Given the description of an element on the screen output the (x, y) to click on. 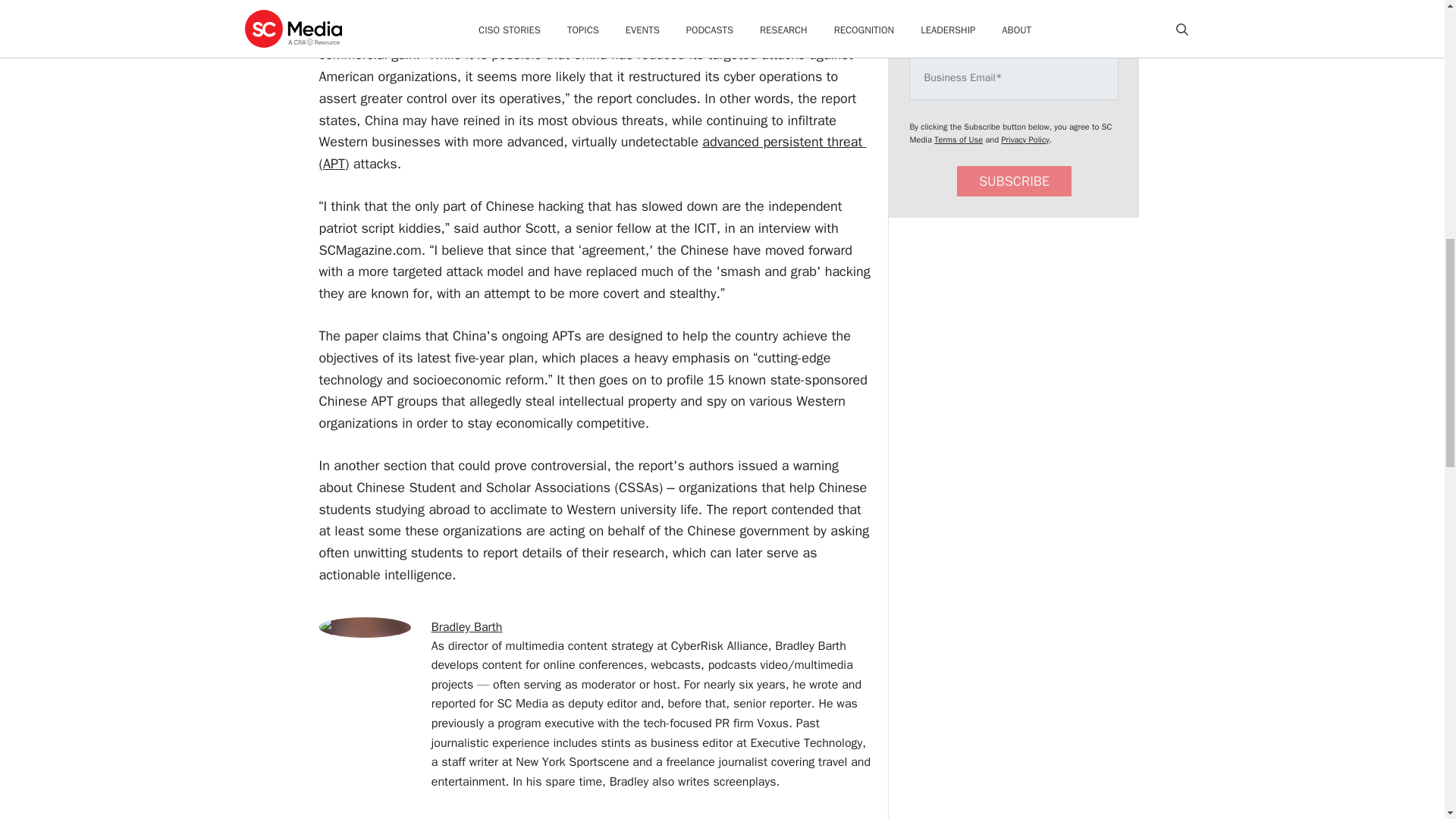
Bradley Barth (466, 626)
Terms of Use (958, 139)
Privacy Policy (1024, 139)
SUBSCRIBE (1013, 181)
